Given the description of an element on the screen output the (x, y) to click on. 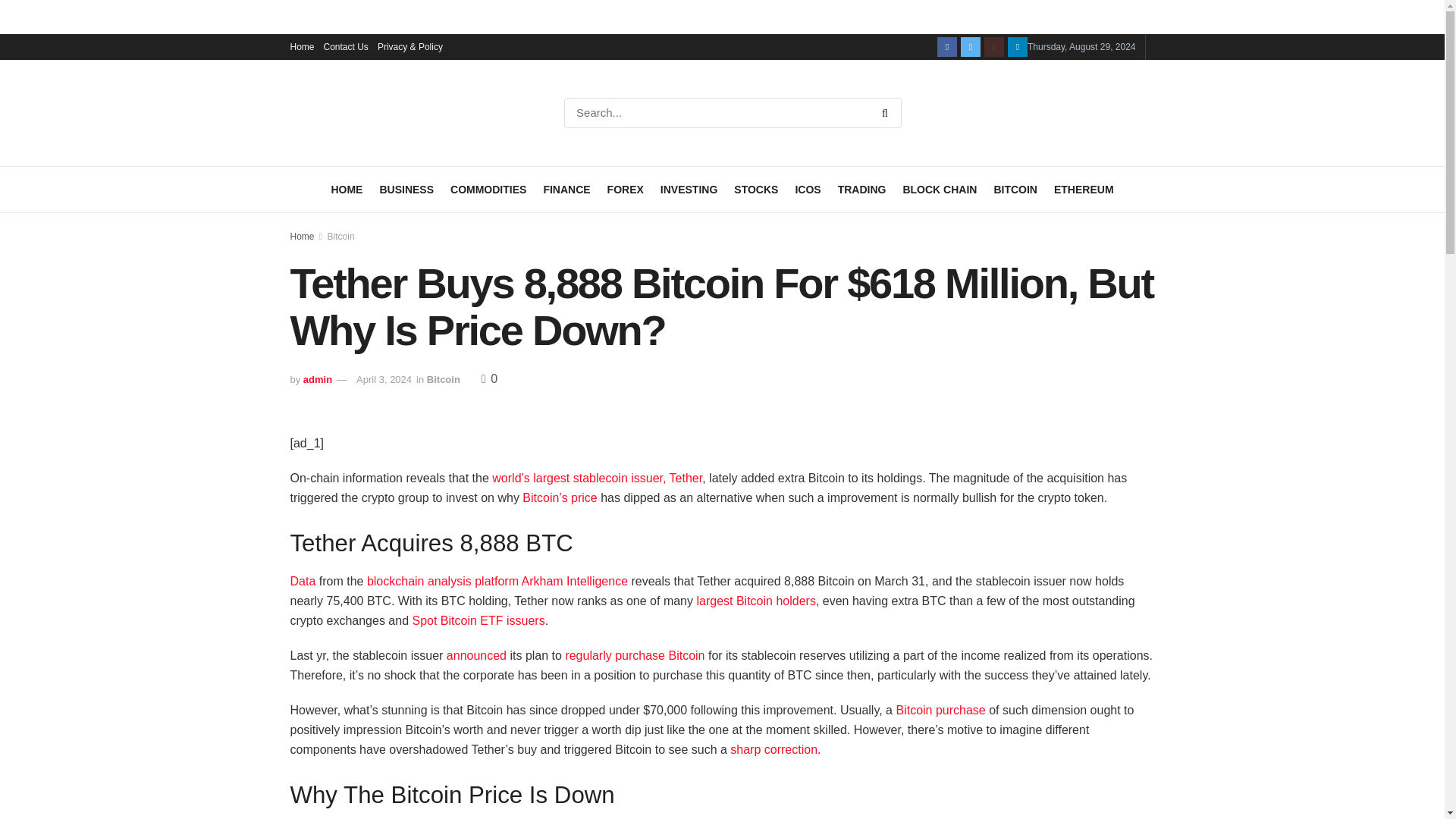
label138asli (28, 8)
BITCOIN (1014, 189)
COMMODITIES (487, 189)
STOCKS (755, 189)
BUSINESS (405, 189)
ETHEREUM (1083, 189)
TRADING (862, 189)
FINANCE (566, 189)
Contact Us (345, 46)
INVESTING (689, 189)
